Given the description of an element on the screen output the (x, y) to click on. 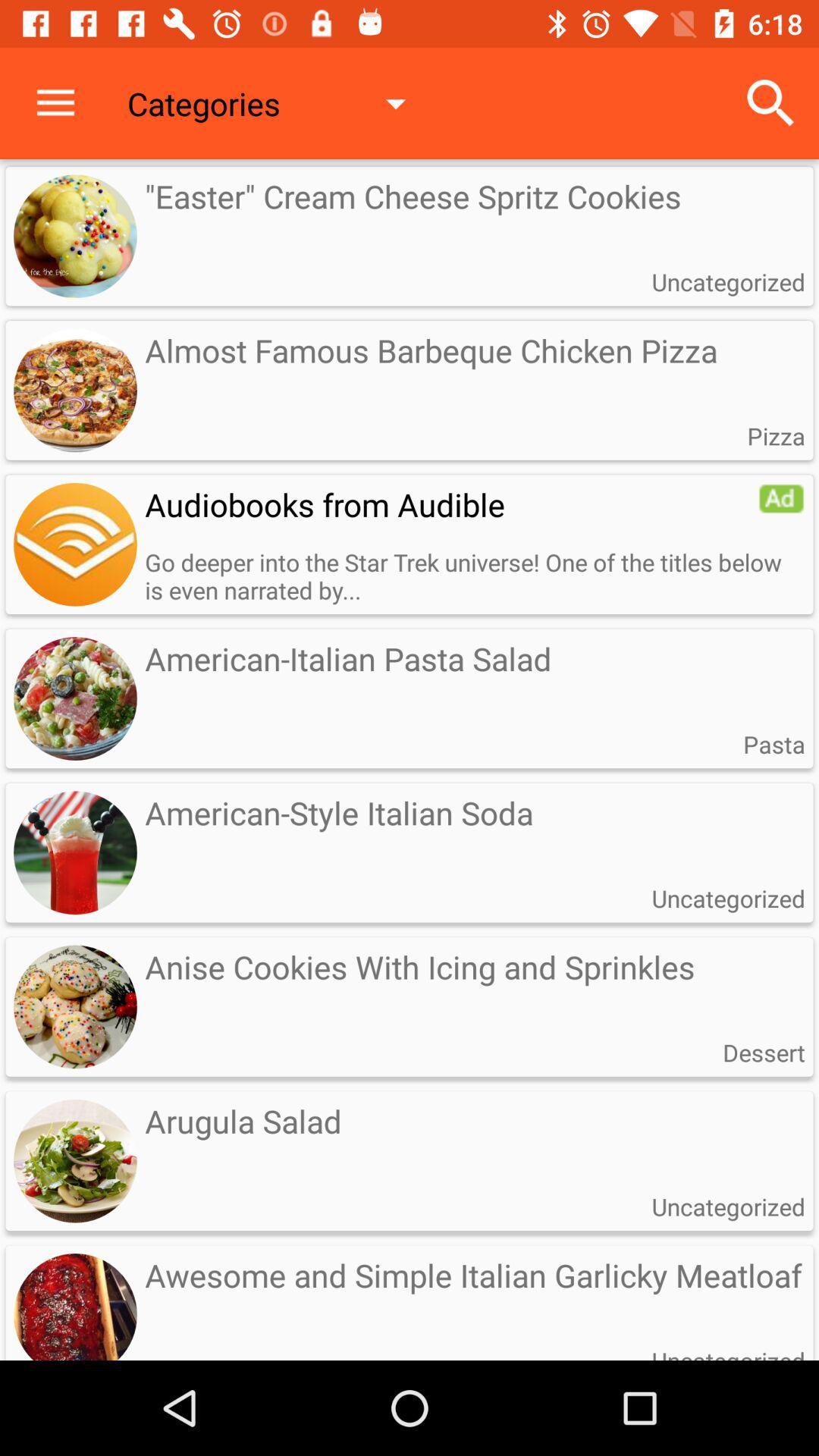
open advertisement (781, 498)
